Given the description of an element on the screen output the (x, y) to click on. 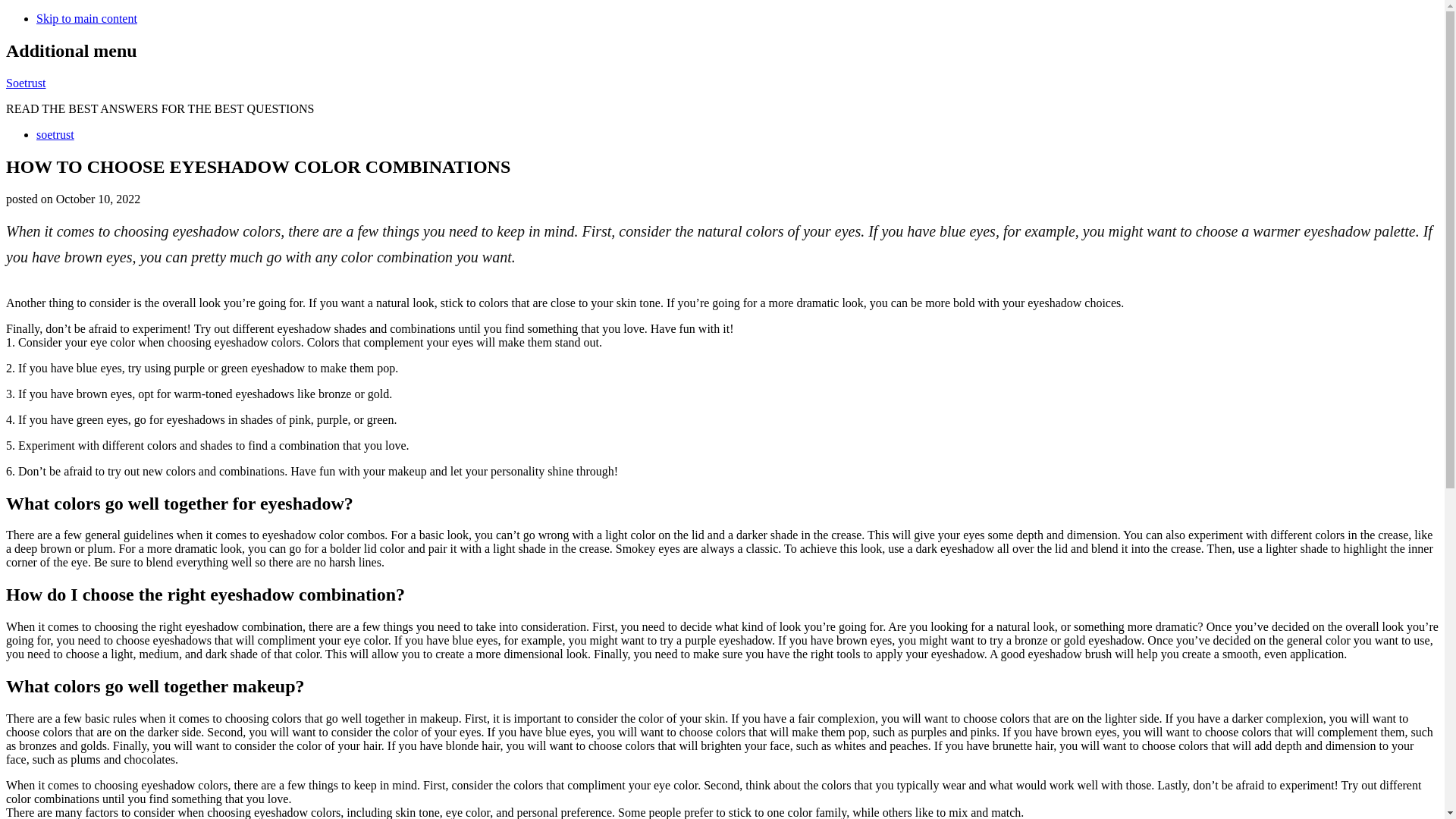
soetrust (55, 133)
Skip to main content (86, 18)
Soetrust (25, 82)
